Given the description of an element on the screen output the (x, y) to click on. 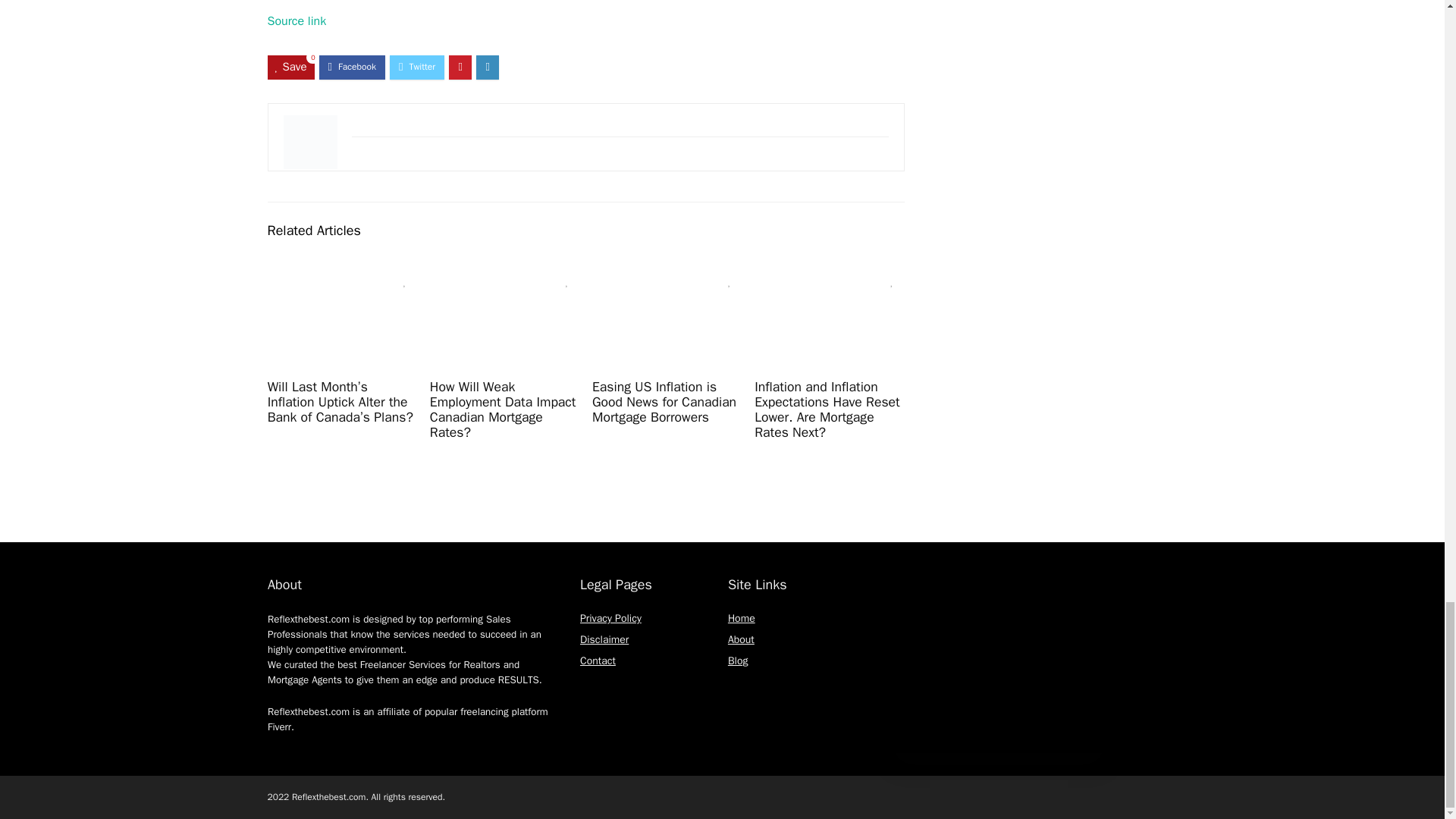
Source link (296, 20)
